Given the description of an element on the screen output the (x, y) to click on. 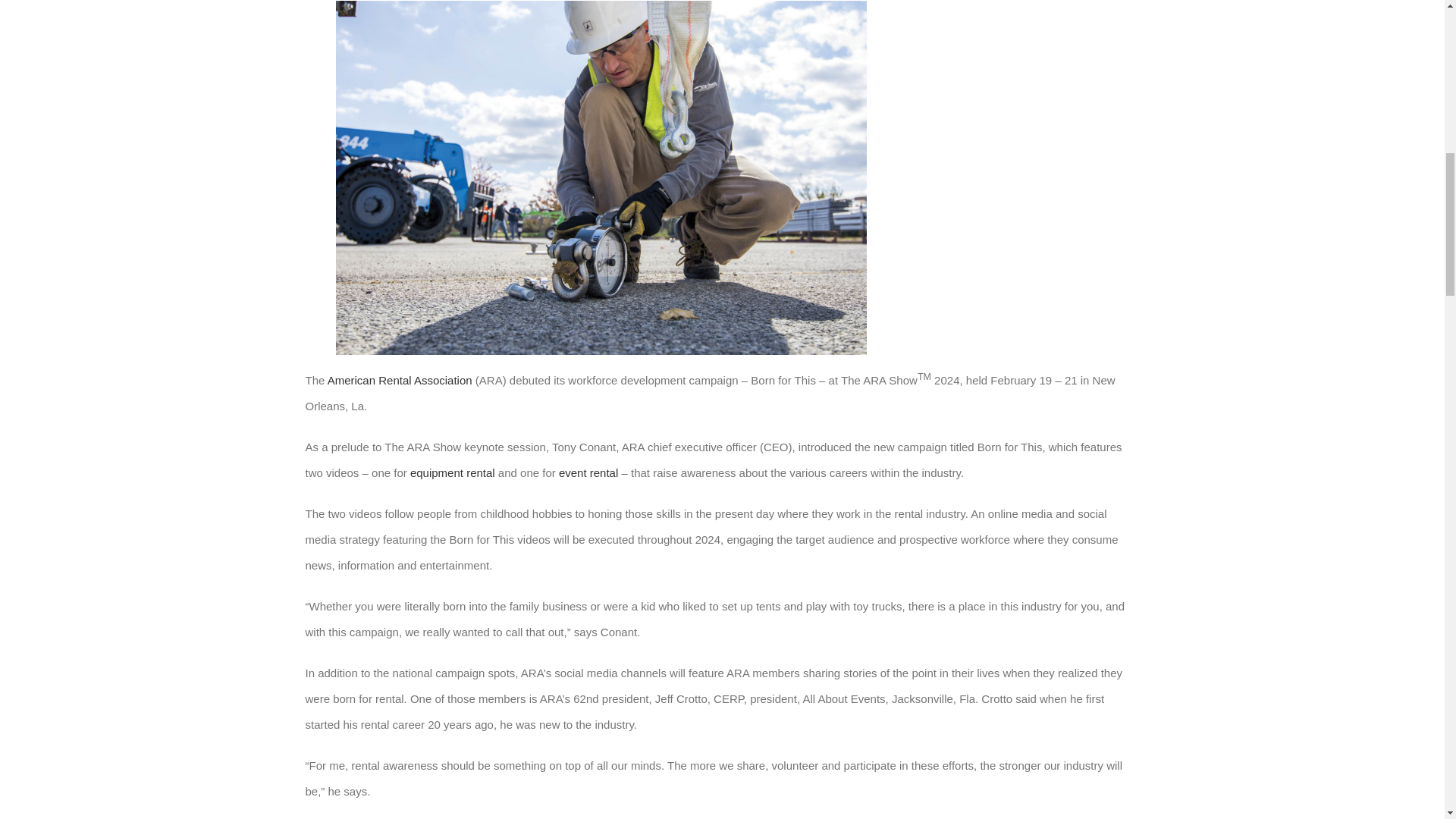
equipment rental (452, 472)
event rental (588, 472)
American Rental Association (399, 379)
